Given the description of an element on the screen output the (x, y) to click on. 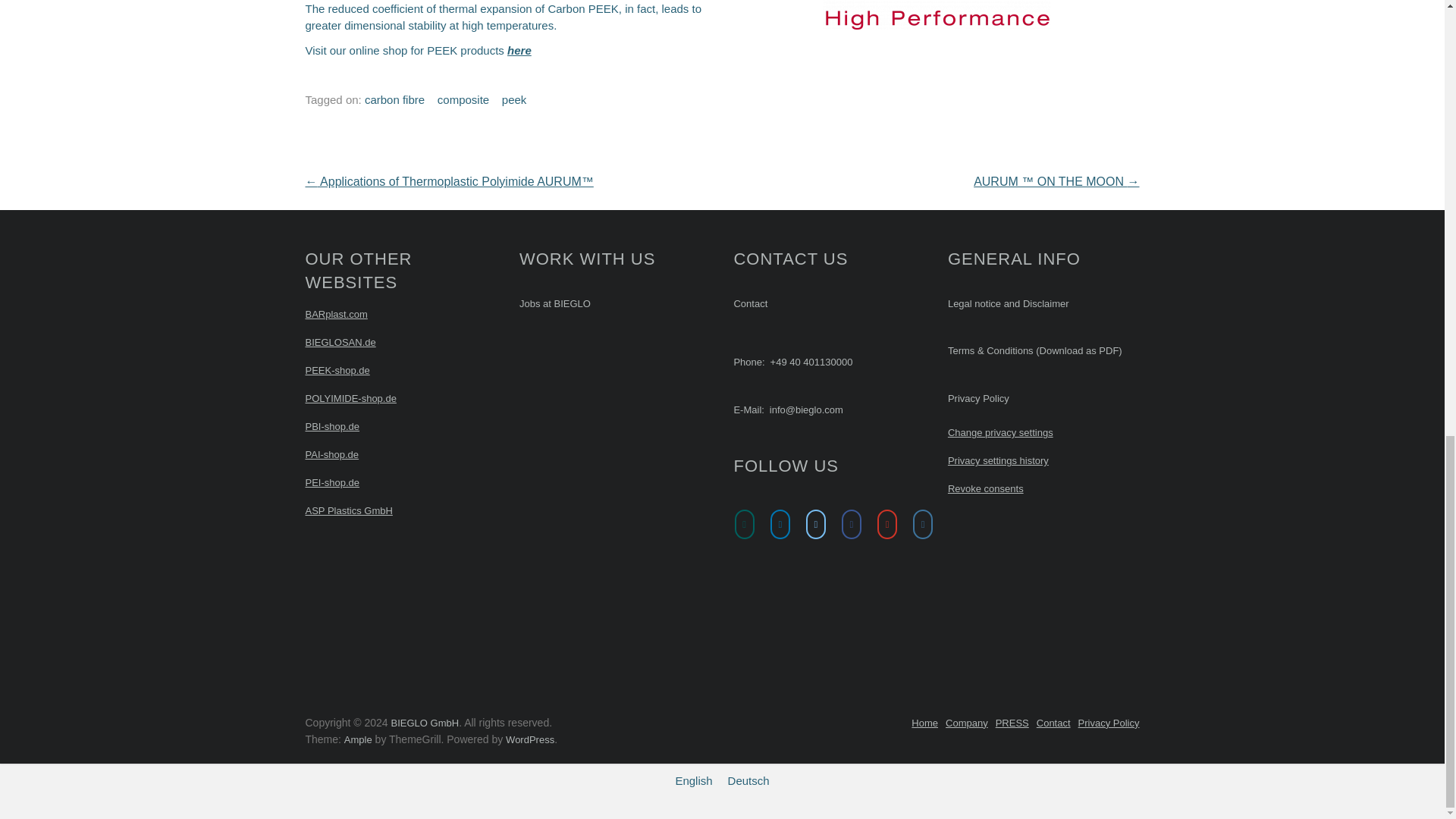
WordPress (529, 739)
Ample (357, 739)
Wer liefert Was Logo (771, 607)
Bieglo High Performance Logo (935, 14)
BIEGLO GmbH (425, 722)
Europages Logo (882, 603)
